Given the description of an element on the screen output the (x, y) to click on. 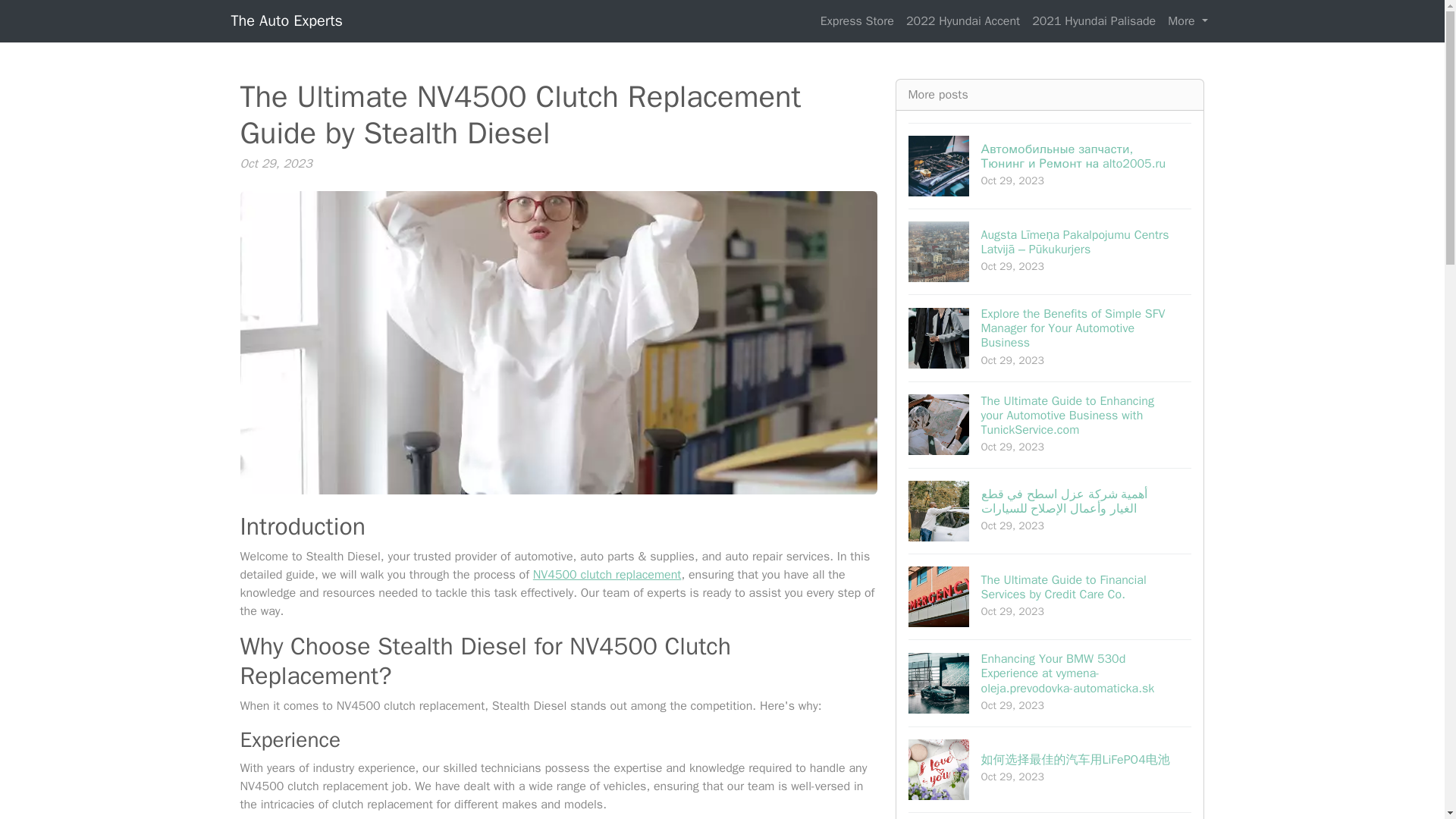
2021 Hyundai Palisade (1093, 20)
More (1186, 20)
NV4500 clutch replacement (606, 574)
2022 Hyundai Accent (962, 20)
The Auto Experts (286, 20)
Express Store (856, 20)
